Given the description of an element on the screen output the (x, y) to click on. 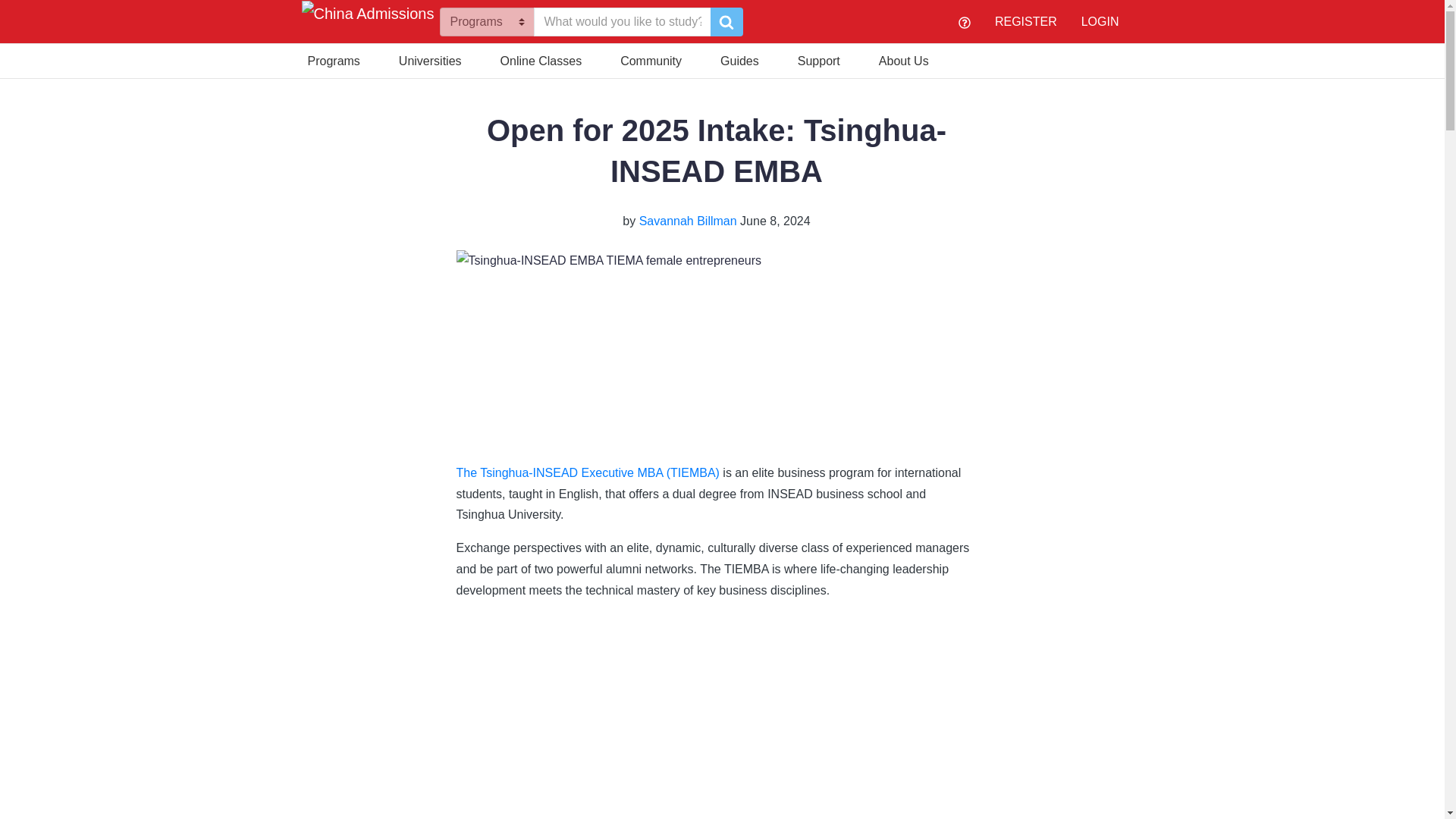
REGISTER (1025, 20)
Programs (333, 59)
Whats it like studying the Tsinghua INSEAD EMBA Program? (716, 715)
LOGIN (1100, 20)
